Given the description of an element on the screen output the (x, y) to click on. 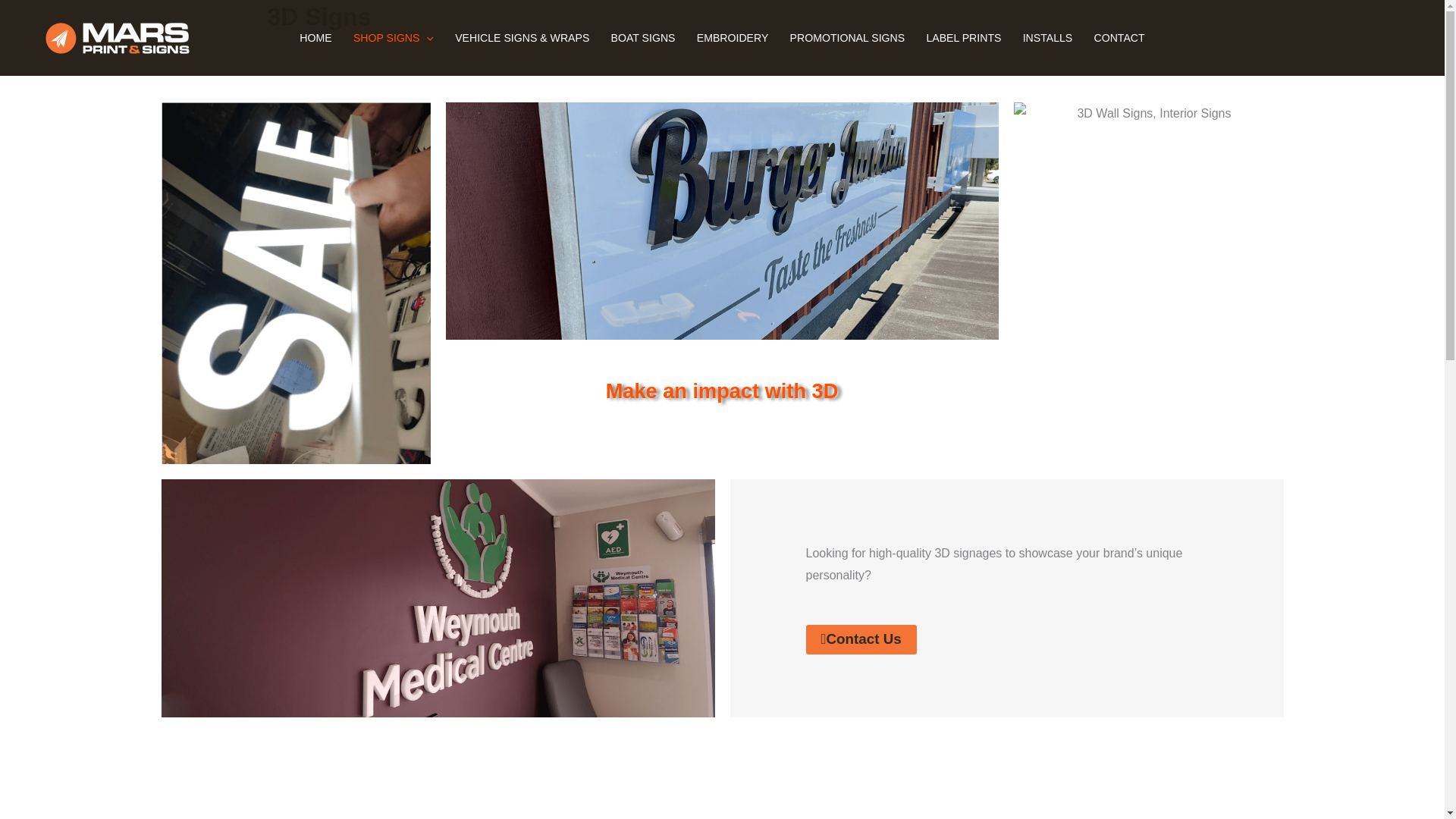
Contact Us (860, 639)
BOAT SIGNS (642, 38)
LABEL PRINTS (963, 38)
EMBROIDERY (731, 38)
SHOP SIGNS (393, 38)
CONTACT (1118, 38)
INSTALLS (1047, 38)
PROMOTIONAL SIGNS (846, 38)
